Given the description of an element on the screen output the (x, y) to click on. 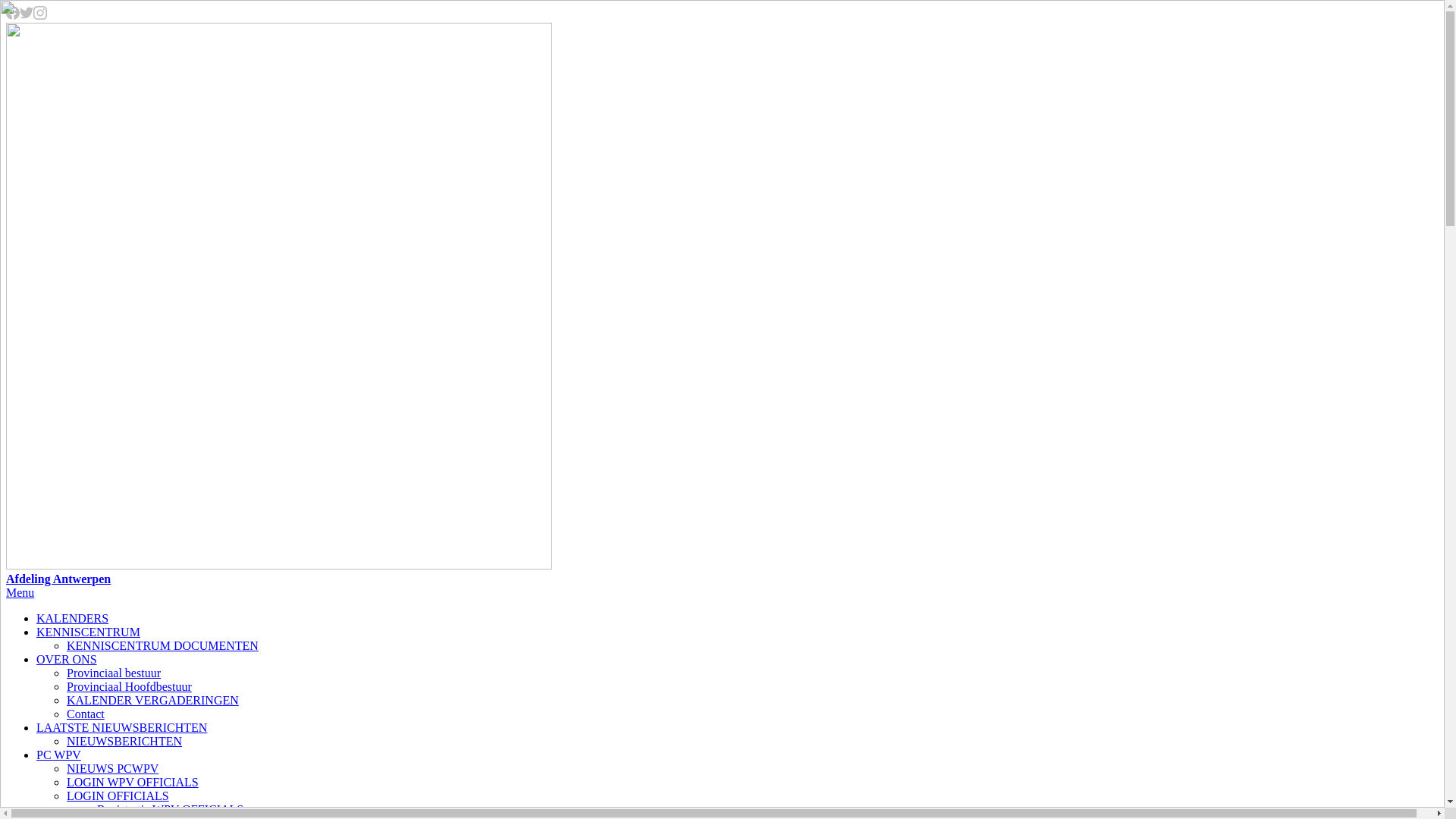
Contact Element type: text (85, 713)
LAATSTE NIEUWSBERICHTEN Element type: text (121, 727)
NIEUWSBERICHTEN Element type: text (124, 740)
KENNISCENTRUM Element type: text (88, 631)
Provinciaal bestuur Element type: text (113, 672)
Afdeling Antwerpen Element type: text (722, 304)
LOGIN WPV OFFICIALS Element type: text (132, 781)
Facebook Element type: hover (12, 15)
PC WPV Element type: text (58, 754)
Registratie WPV OFFICIALS Element type: text (170, 809)
Menu Element type: text (20, 592)
Twitter Element type: hover (26, 15)
Provinciaal Hoofdbestuur Element type: text (128, 686)
KALENDERS Element type: text (72, 617)
OVER ONS Element type: text (66, 658)
KENNISCENTRUM DOCUMENTEN Element type: text (162, 645)
Instagram Element type: hover (40, 15)
NIEUWS PCWPV Element type: text (112, 768)
KALENDER VERGADERINGEN Element type: text (152, 699)
LOGIN OFFICIALS Element type: text (117, 795)
